Given the description of an element on the screen output the (x, y) to click on. 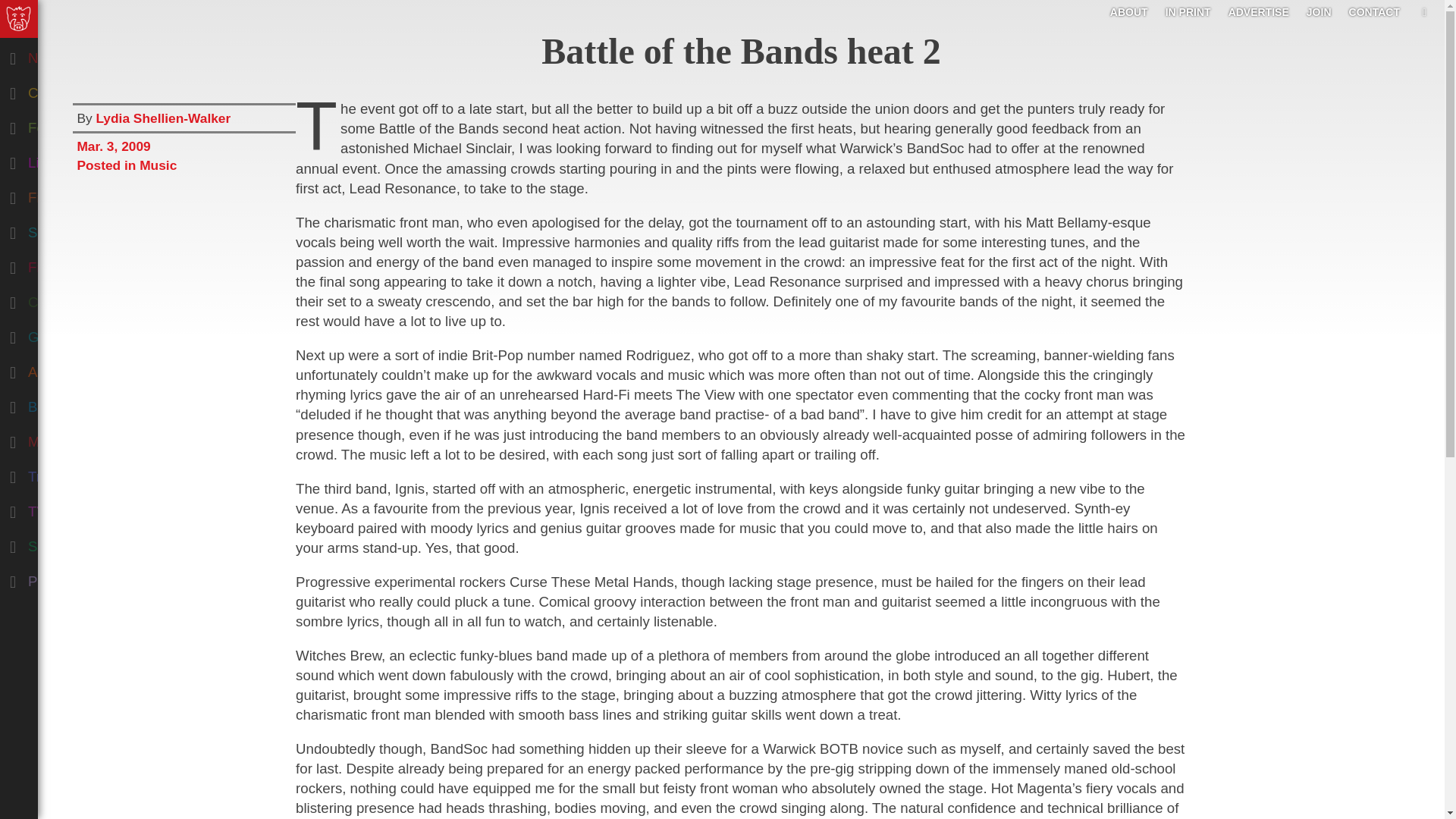
IN PRINT (1188, 11)
Film (79, 264)
Games (79, 334)
Battle of the Bands heat 2 (740, 51)
Sport (79, 543)
Music (157, 165)
Podcasts (79, 578)
Features (79, 124)
ADVERTISE (1258, 11)
Mar. 3, 2009 (183, 144)
CONTACT (1374, 11)
News (79, 54)
Music (79, 438)
ABOUT (1128, 11)
Finance (79, 194)
